Given the description of an element on the screen output the (x, y) to click on. 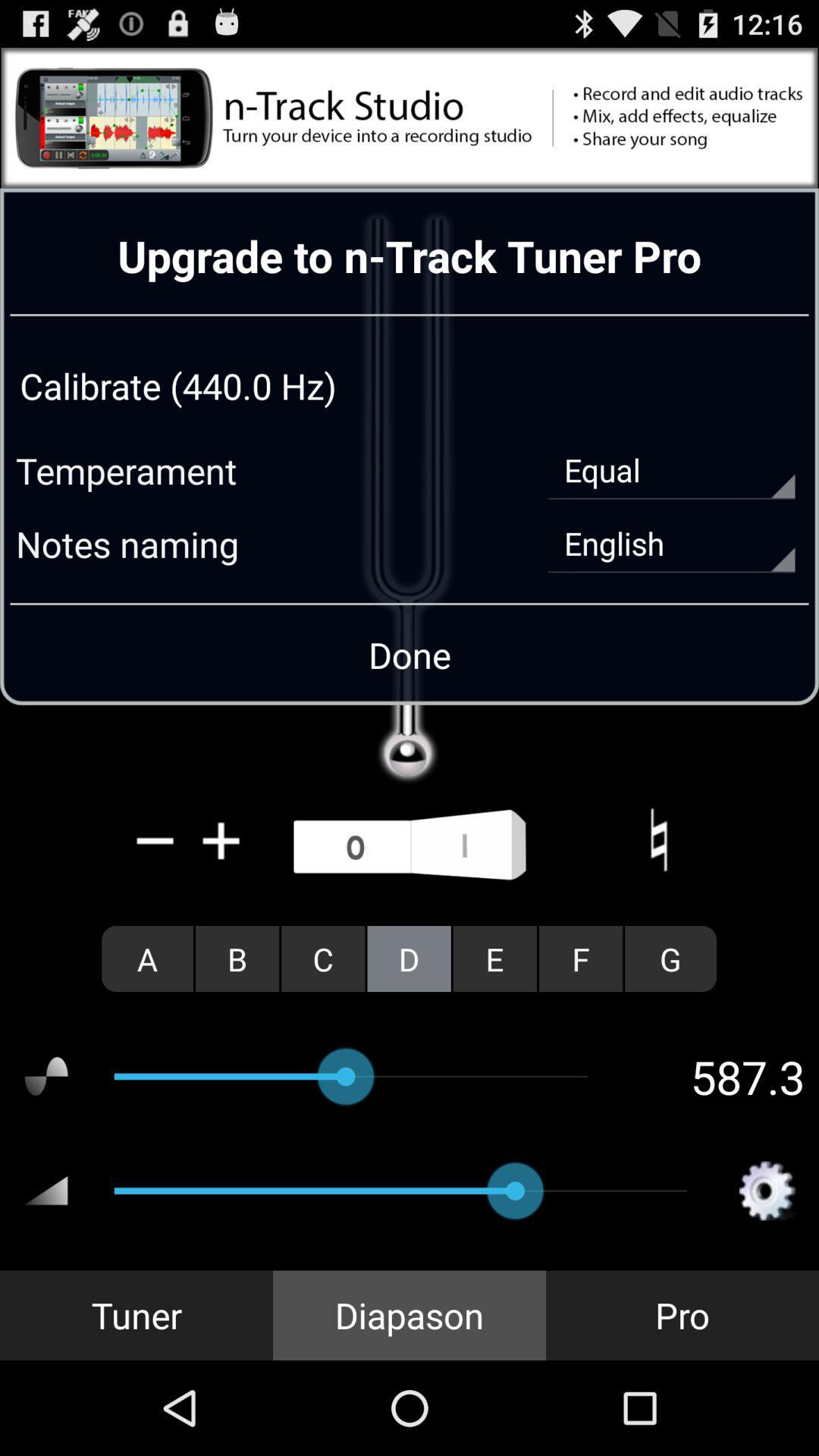
select 587.3 icon (718, 1076)
